Given the description of an element on the screen output the (x, y) to click on. 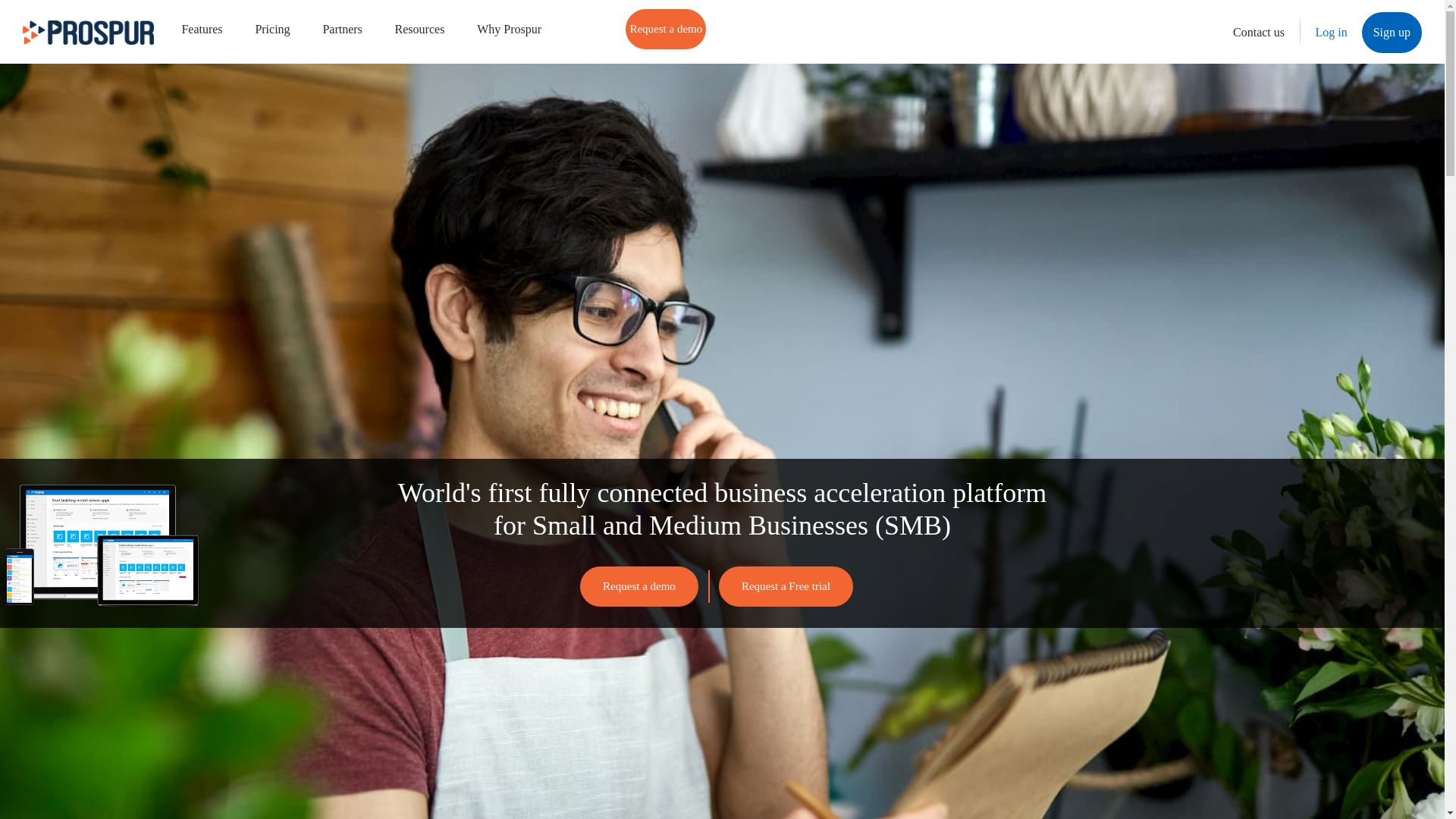
Features (201, 29)
Sign up (1391, 32)
Request a Free trial (781, 586)
Why Prospur (509, 29)
Request a demo (666, 29)
Partners (341, 29)
Resources (419, 29)
Request a demo (631, 586)
Pricing (272, 29)
Contact us (1259, 32)
